Given the description of an element on the screen output the (x, y) to click on. 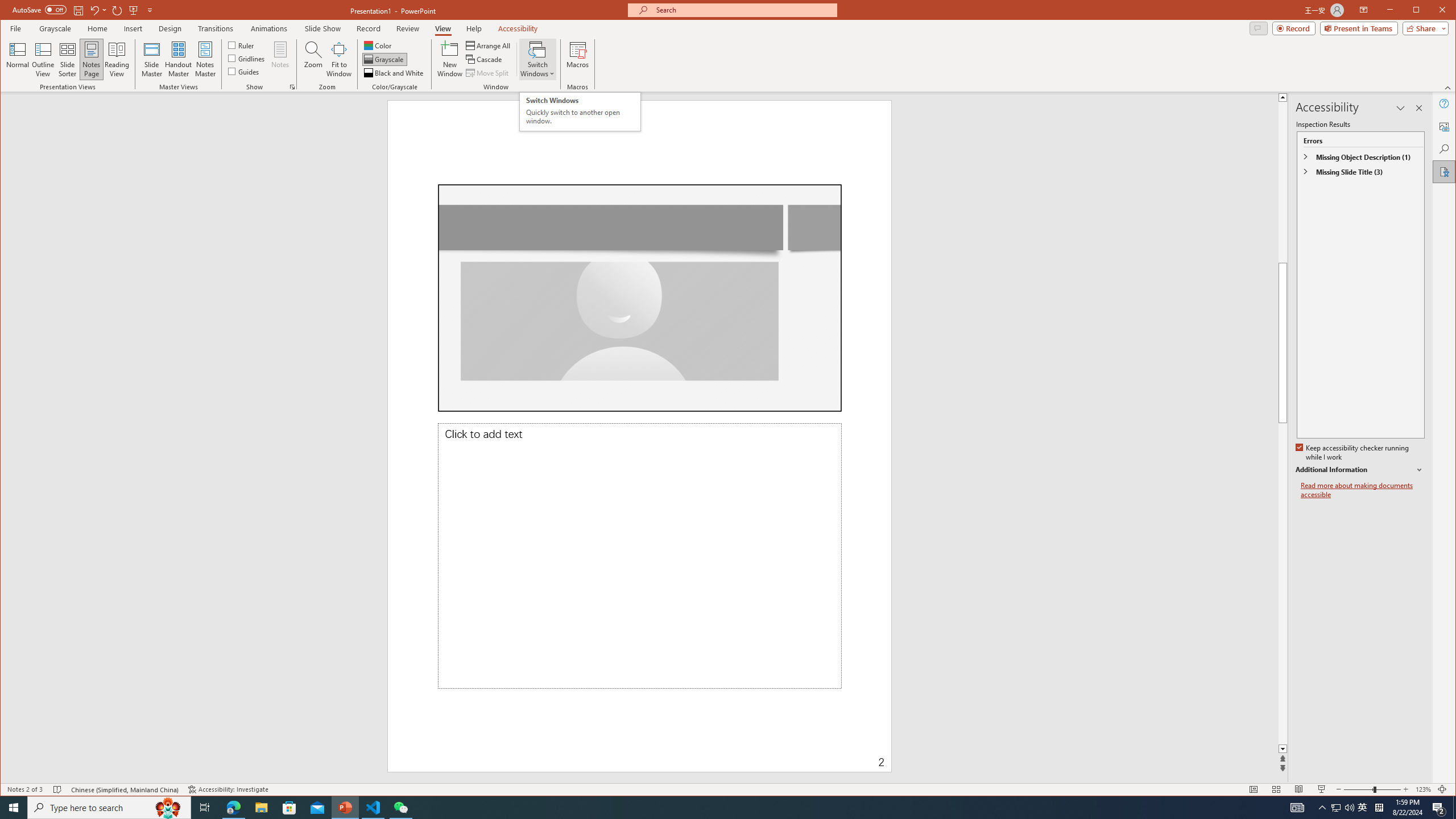
Additional Information (1360, 469)
Slide Master (151, 59)
Grayscale (55, 28)
Keep accessibility checker running while I work (1352, 452)
Grid Settings... (292, 86)
